Given the description of an element on the screen output the (x, y) to click on. 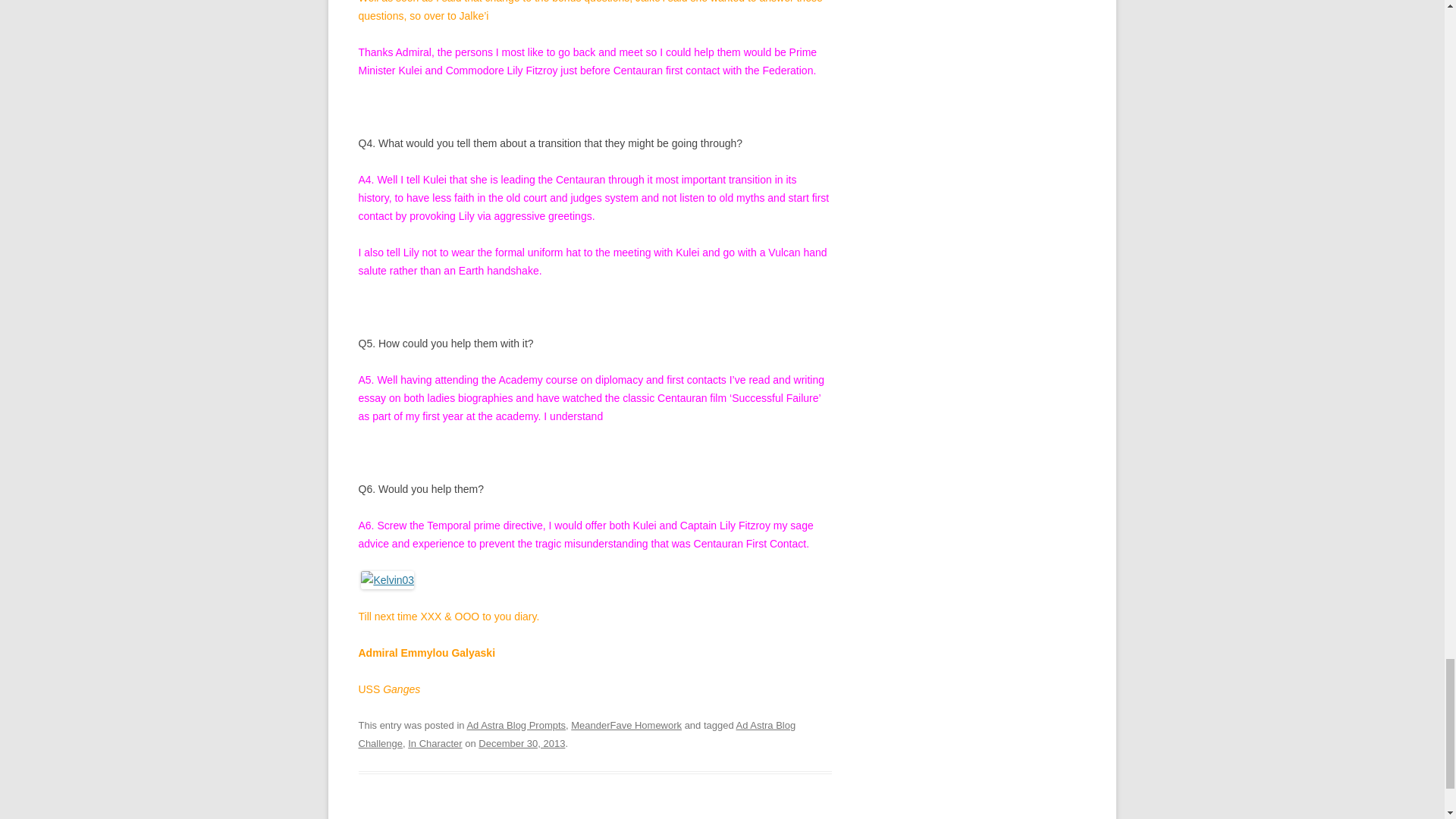
9:04 pm (521, 743)
Ad Astra Blog Prompts (515, 725)
Ad Astra Blog Challenge (576, 734)
In Character (434, 743)
December 30, 2013 (521, 743)
MeanderFave Homework (625, 725)
